Given the description of an element on the screen output the (x, y) to click on. 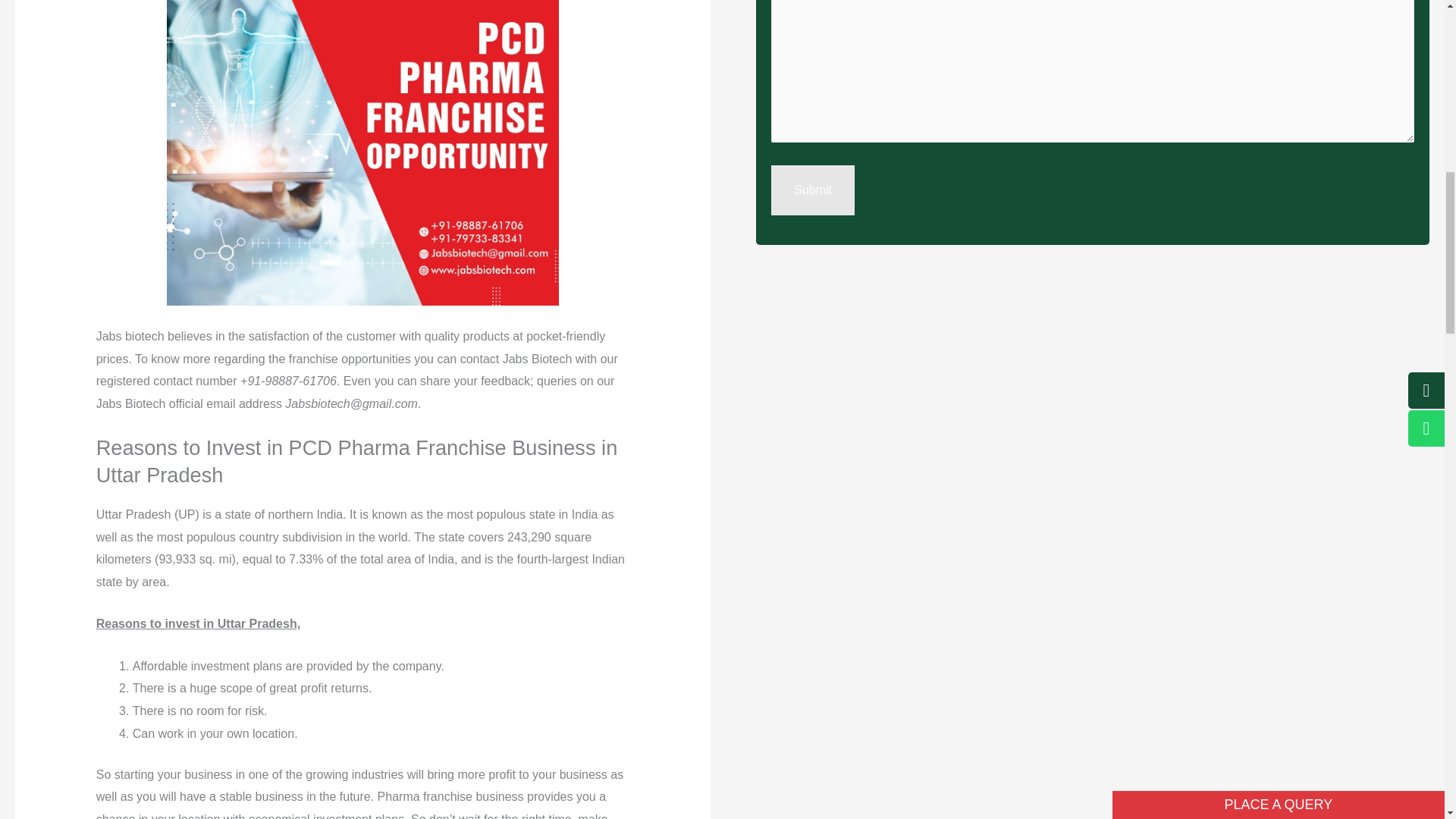
Submit (812, 190)
